Given the description of an element on the screen output the (x, y) to click on. 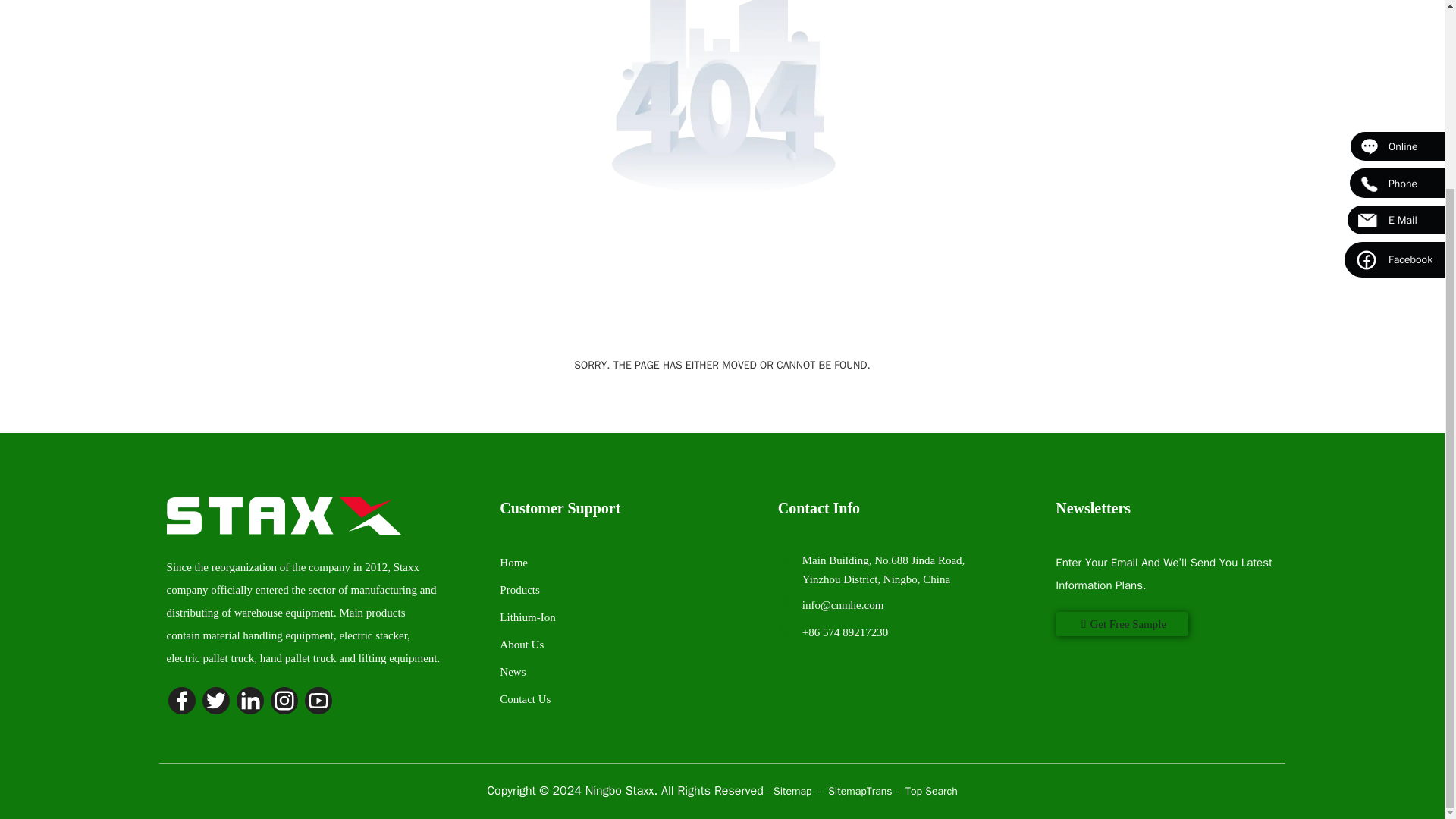
Get Free Sample (1121, 623)
About Us (521, 644)
Home (513, 562)
Facebook (1394, 24)
Lithium-Ion (526, 616)
- Sitemap  (791, 790)
Contact Us (524, 698)
Products (519, 589)
News (512, 671)
